Given the description of an element on the screen output the (x, y) to click on. 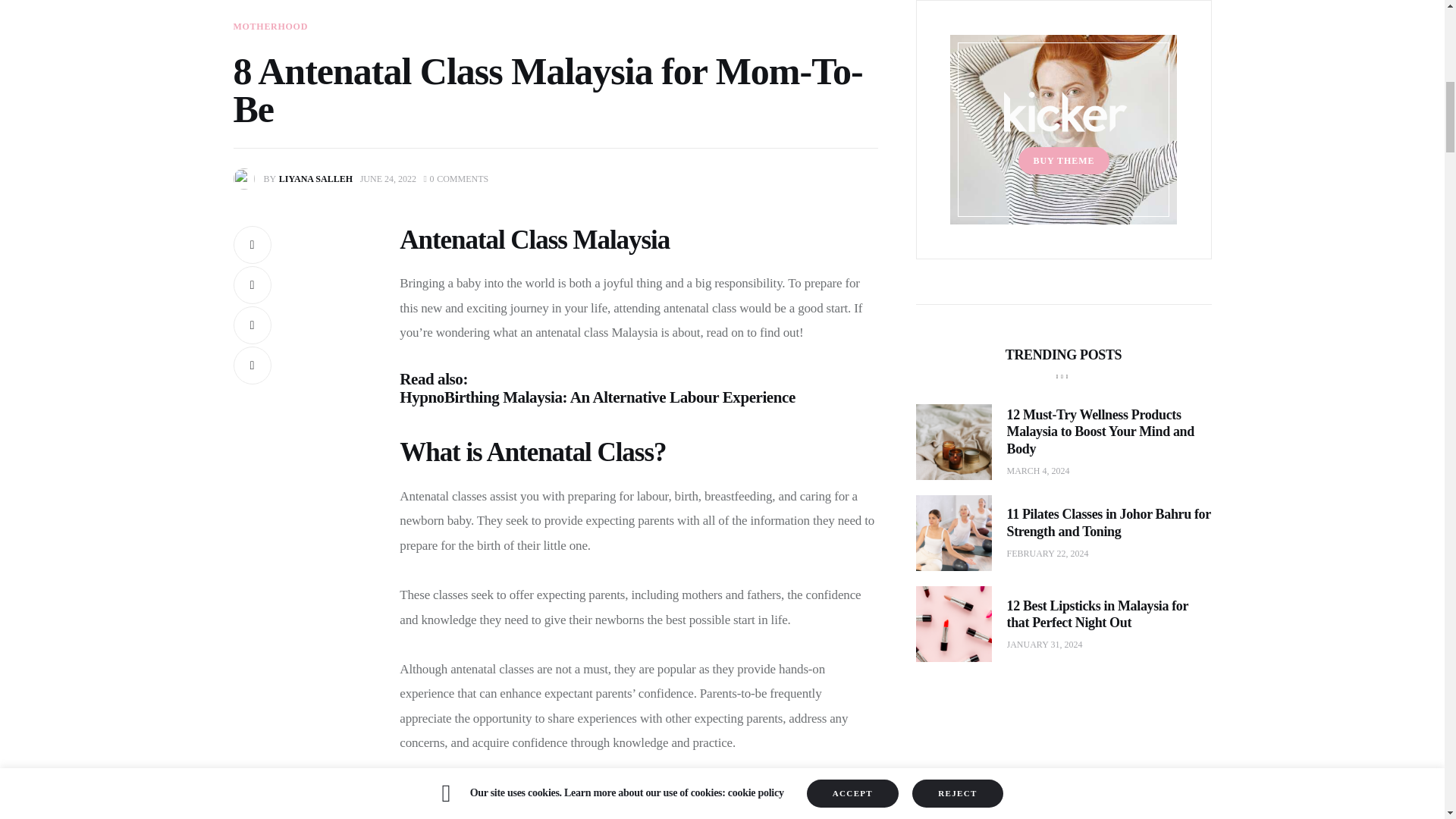
0COMMENTS (456, 178)
Copy URL to clipboard (251, 365)
MOTHERHOOD (295, 178)
